Given the description of an element on the screen output the (x, y) to click on. 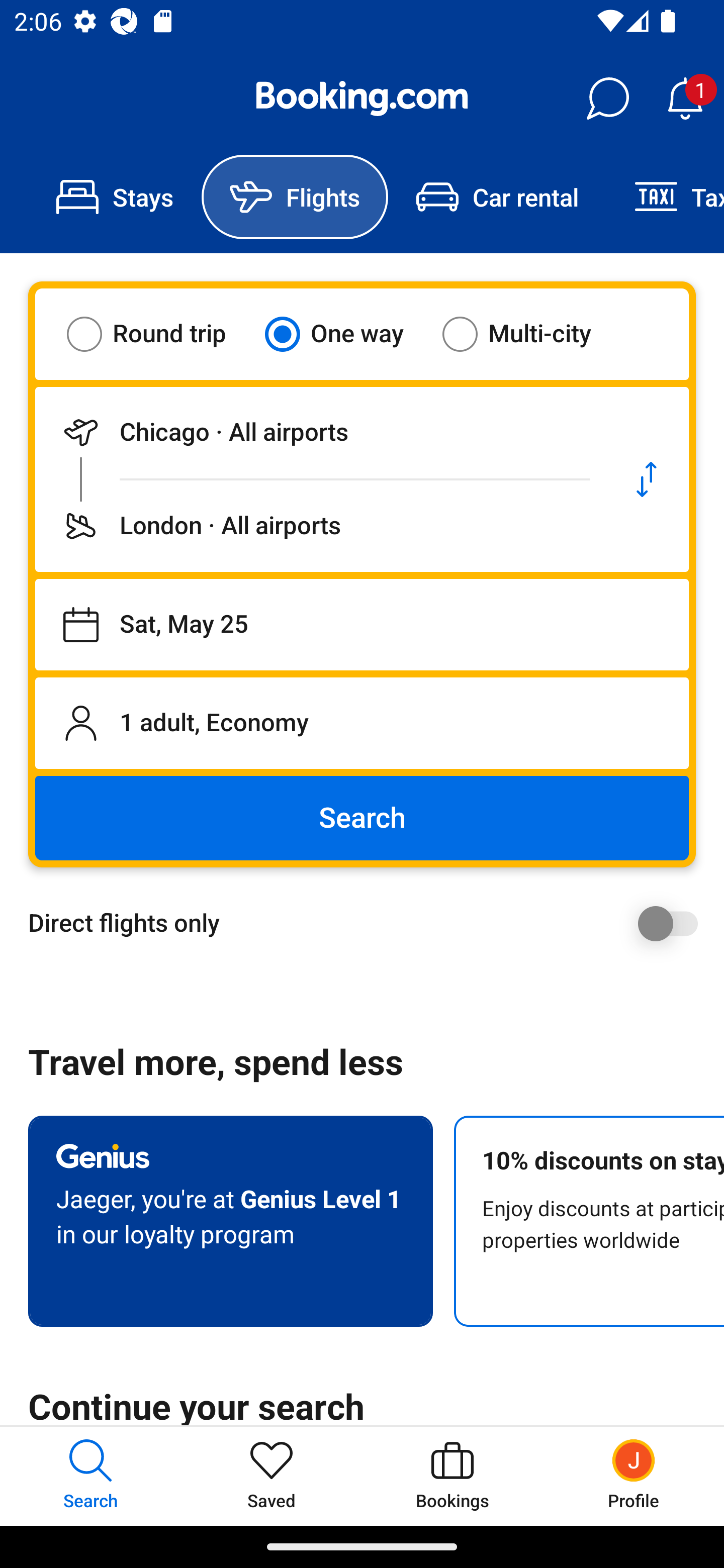
Messages (607, 98)
Notifications (685, 98)
Stays (114, 197)
Flights (294, 197)
Car rental (497, 197)
Taxi (665, 197)
Round trip (158, 333)
Multi-city (528, 333)
Departing from Chicago · All airports (319, 432)
Swap departure location and destination (646, 479)
Flying to London · All airports (319, 525)
Departing on Sat, May 25 (361, 624)
1 adult, Economy (361, 722)
Search (361, 818)
Direct flights only (369, 923)
Saved (271, 1475)
Bookings (452, 1475)
Profile (633, 1475)
